Given the description of an element on the screen output the (x, y) to click on. 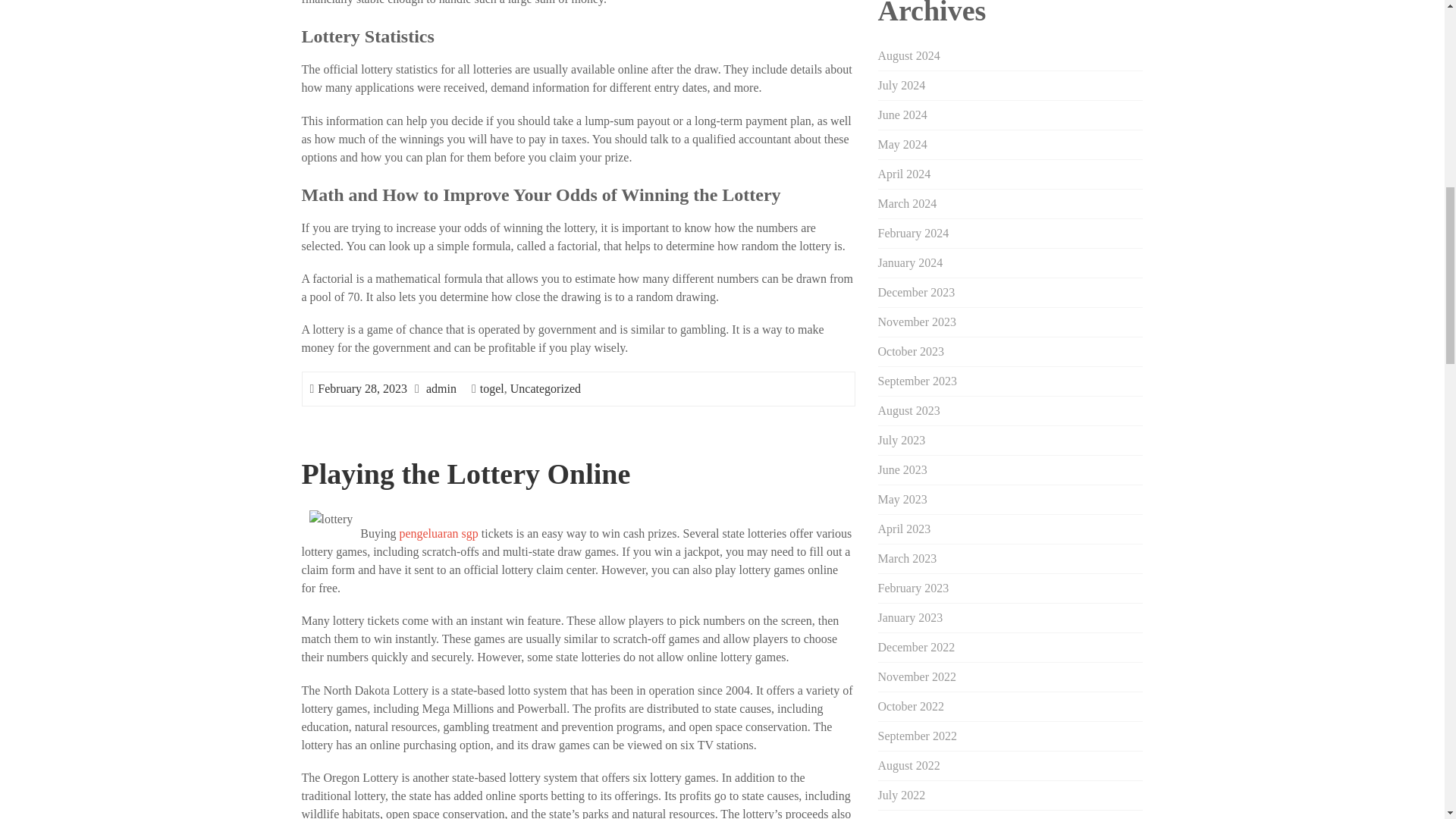
August 2024 (908, 55)
June 2024 (902, 114)
March 2024 (907, 203)
admin (441, 388)
February 28, 2023 (362, 388)
Playing the Lottery Online (465, 473)
pengeluaran sgp (437, 533)
July 2024 (901, 84)
May 2024 (902, 144)
togel (491, 388)
